Given the description of an element on the screen output the (x, y) to click on. 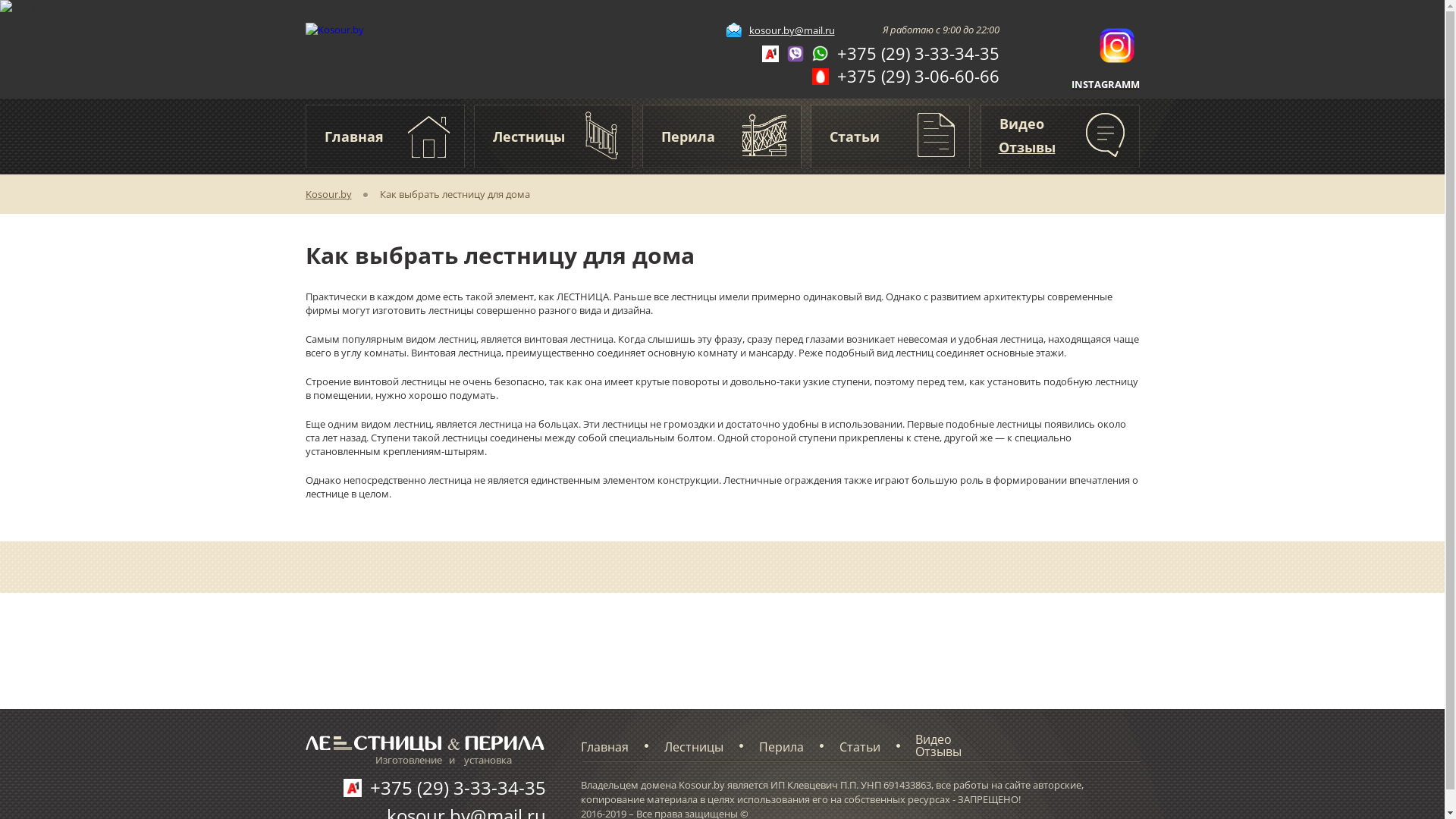
Kosour.by Element type: text (341, 194)
INSTAGRAMM Element type: text (1104, 84)
+375 (29) 3-33-34-35 Element type: text (879, 54)
kosour.by@mail.ru Element type: text (780, 29)
+375 (29) 3-06-60-66 Element type: text (904, 77)
+375 (29) 3-33-34-35 Element type: text (431, 783)
